Given the description of an element on the screen output the (x, y) to click on. 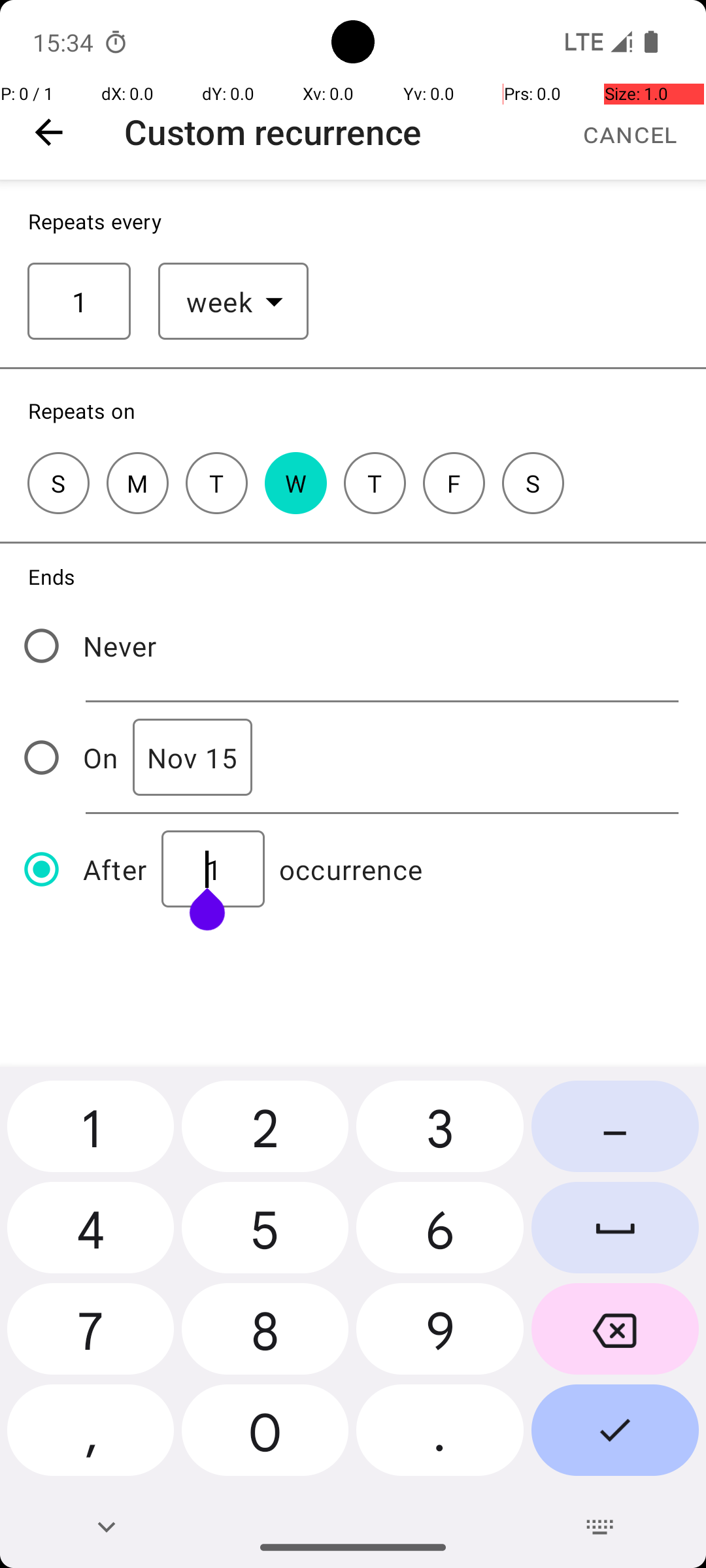
Repeats every Element type: android.widget.TextView (94, 221)
Repeats on Element type: android.widget.TextView (81, 410)
Ends Element type: android.widget.TextView (51, 576)
Custom recurrence Element type: android.widget.TextView (273, 131)
week Element type: android.widget.TextView (219, 301)
Never Element type: android.widget.TextView (120, 645)
After Element type: android.widget.TextView (114, 868)
occurrence Element type: android.widget.TextView (350, 868)
Nov 15 Element type: android.widget.TextView (192, 757)
